Given the description of an element on the screen output the (x, y) to click on. 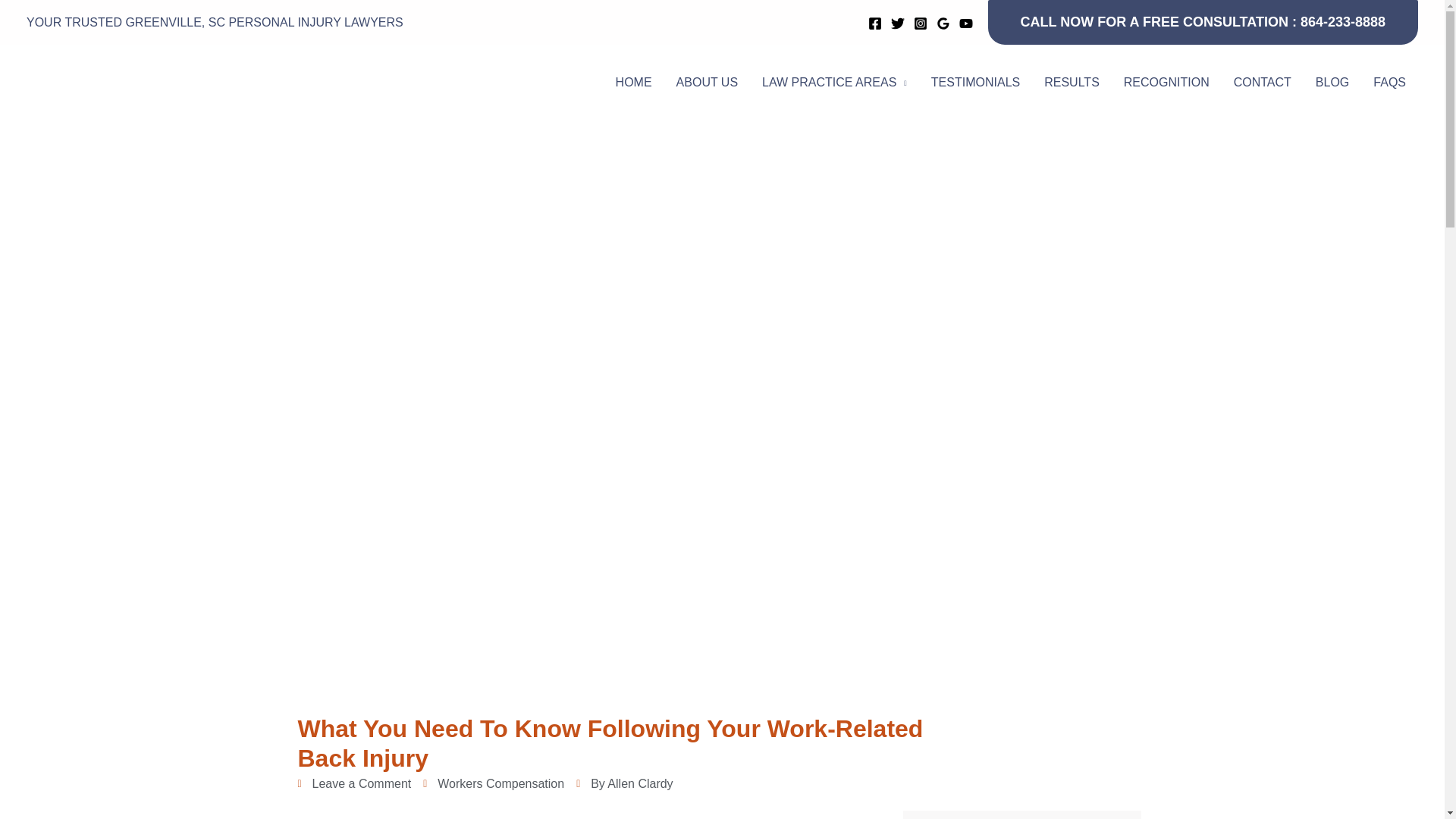
TESTIMONIALS (975, 82)
CONTACT (1262, 82)
LAW PRACTICE AREAS (833, 82)
RESULTS (1072, 82)
ABOUT US (707, 82)
RECOGNITION (1166, 82)
CALL NOW FOR A FREE CONSULTATION : 864-233-8888 (1203, 22)
